Given the description of an element on the screen output the (x, y) to click on. 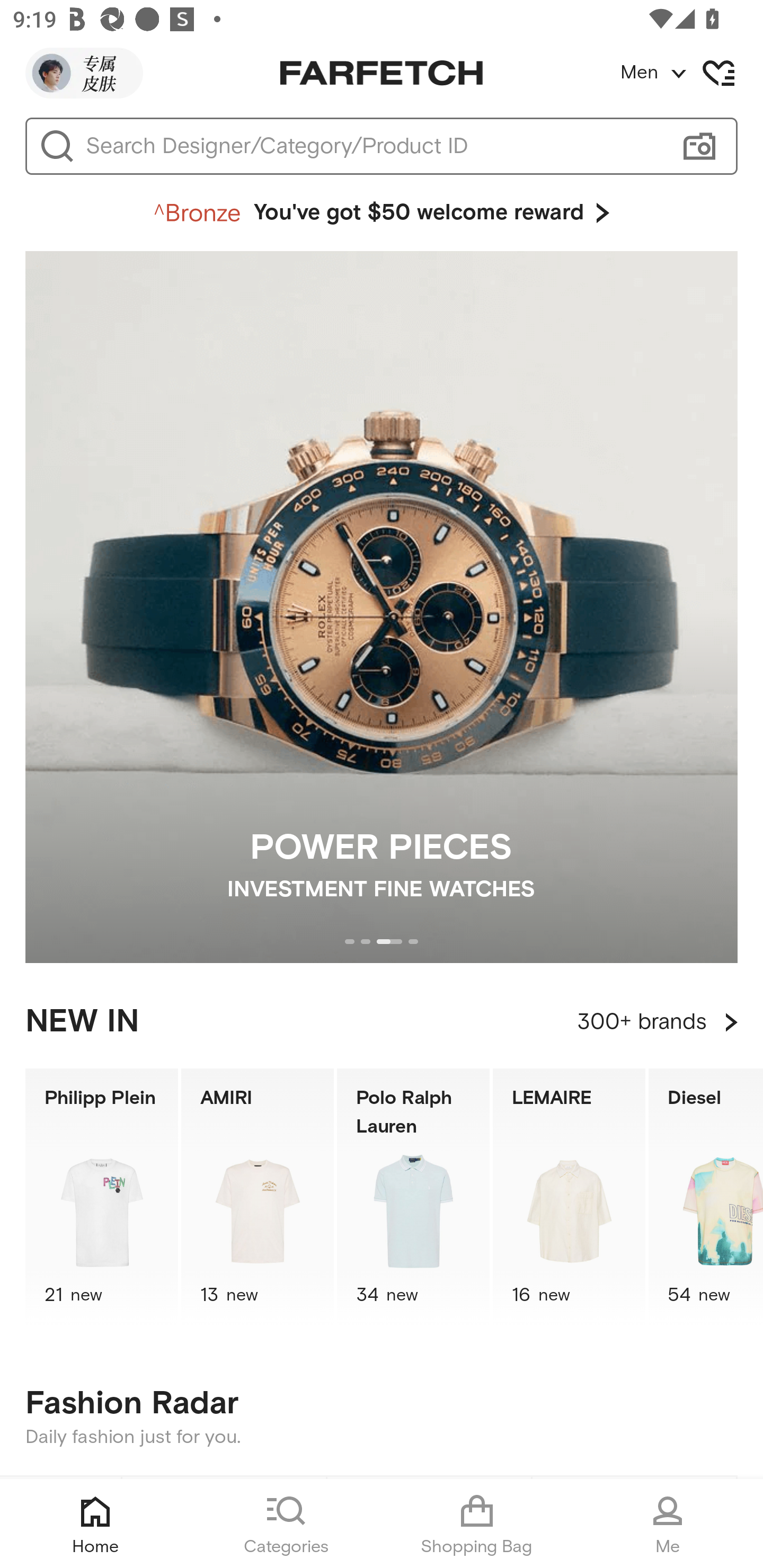
Men (691, 72)
Search Designer/Category/Product ID (373, 146)
You've got $50 welcome reward (381, 213)
NEW IN 300+ brands (381, 1021)
Philipp Plein 21  new (101, 1196)
AMIRI 13  new (257, 1196)
Polo Ralph Lauren 34  new (413, 1196)
LEMAIRE 16  new (568, 1196)
Diesel 54  new (705, 1196)
Categories (285, 1523)
Shopping Bag (476, 1523)
Me (667, 1523)
